Given the description of an element on the screen output the (x, y) to click on. 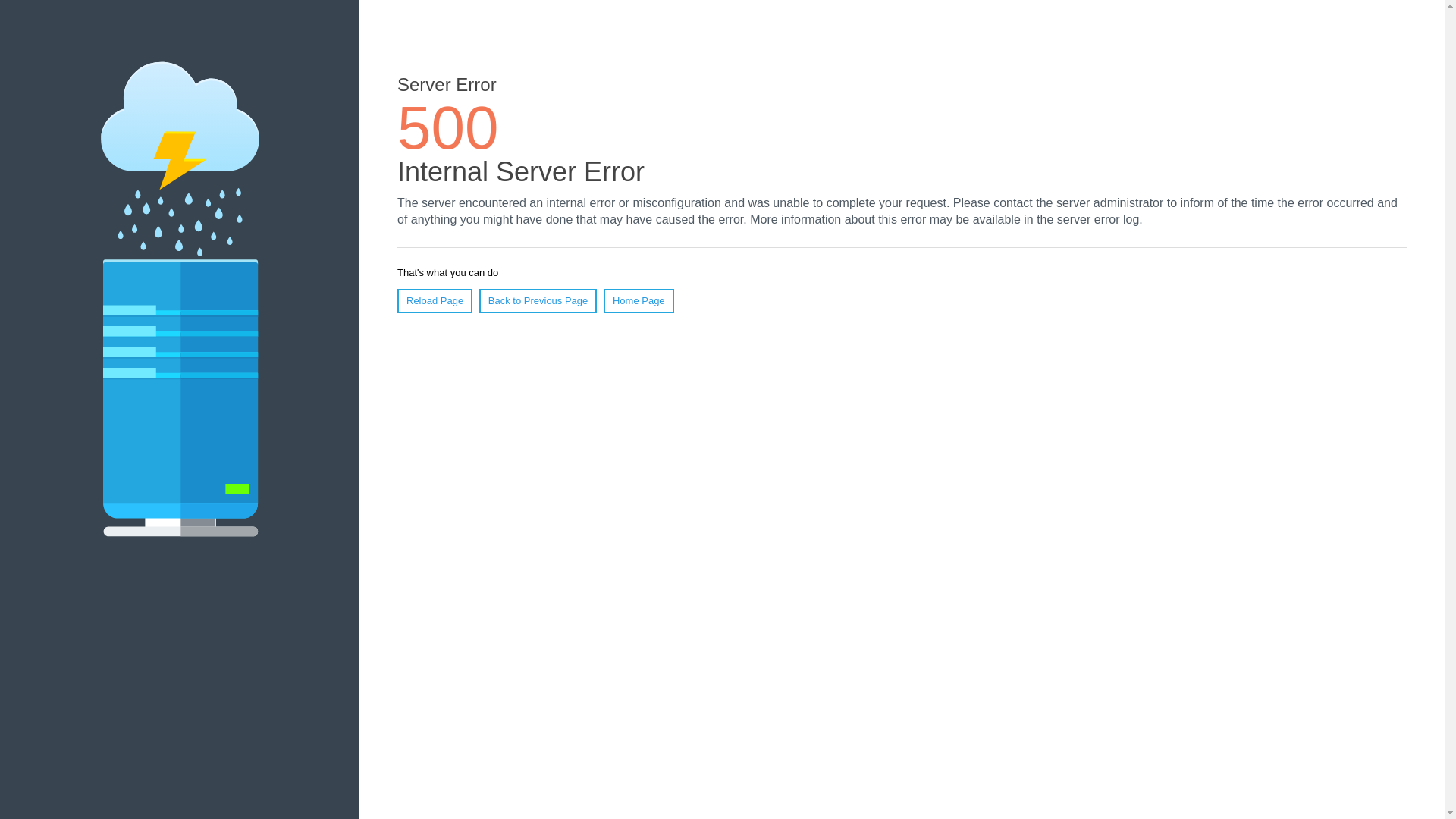
Back to Previous Page Element type: text (538, 300)
Reload Page Element type: text (434, 300)
Home Page Element type: text (638, 300)
